Given the description of an element on the screen output the (x, y) to click on. 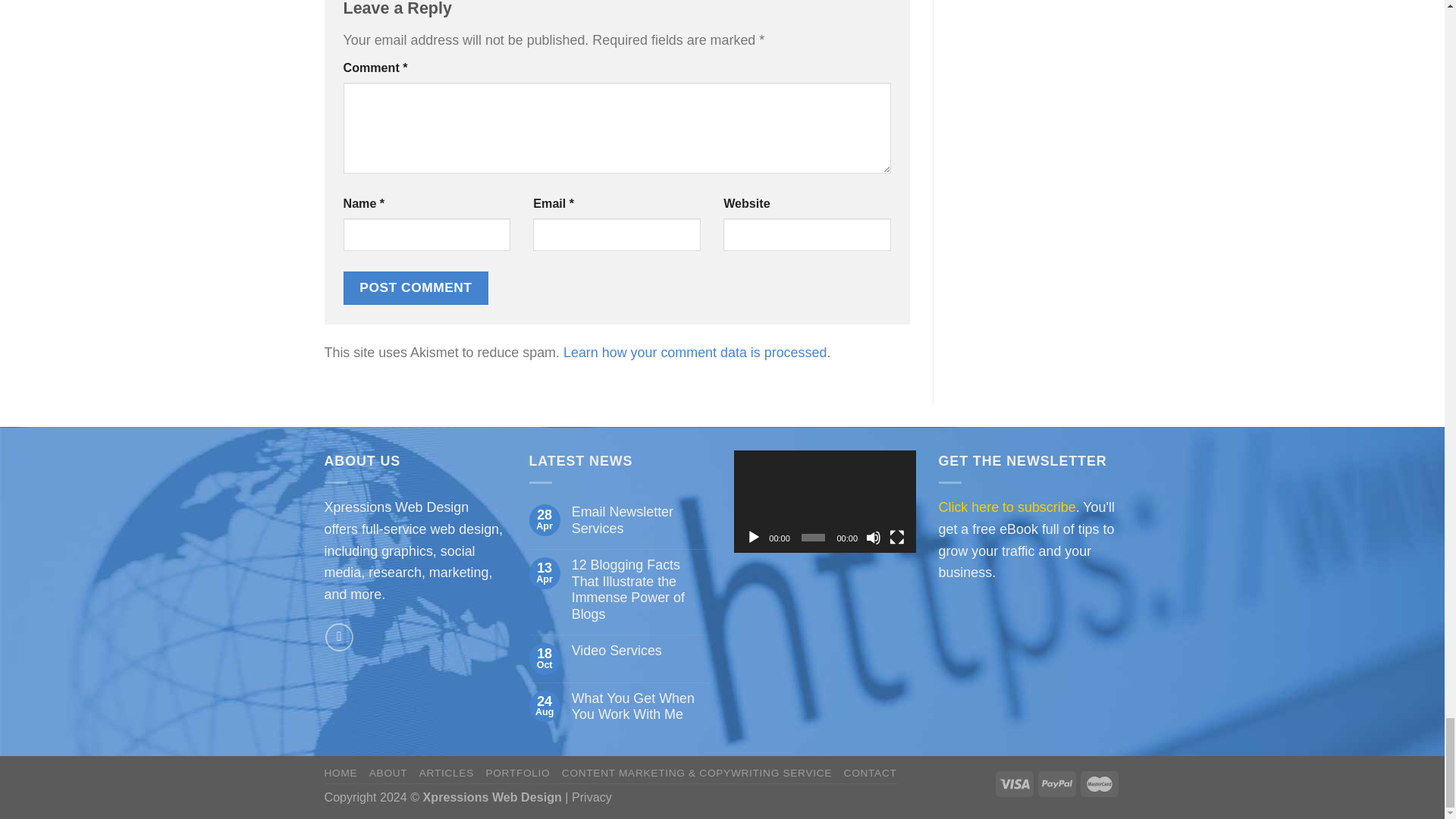
Post Comment (414, 287)
